Given the description of an element on the screen output the (x, y) to click on. 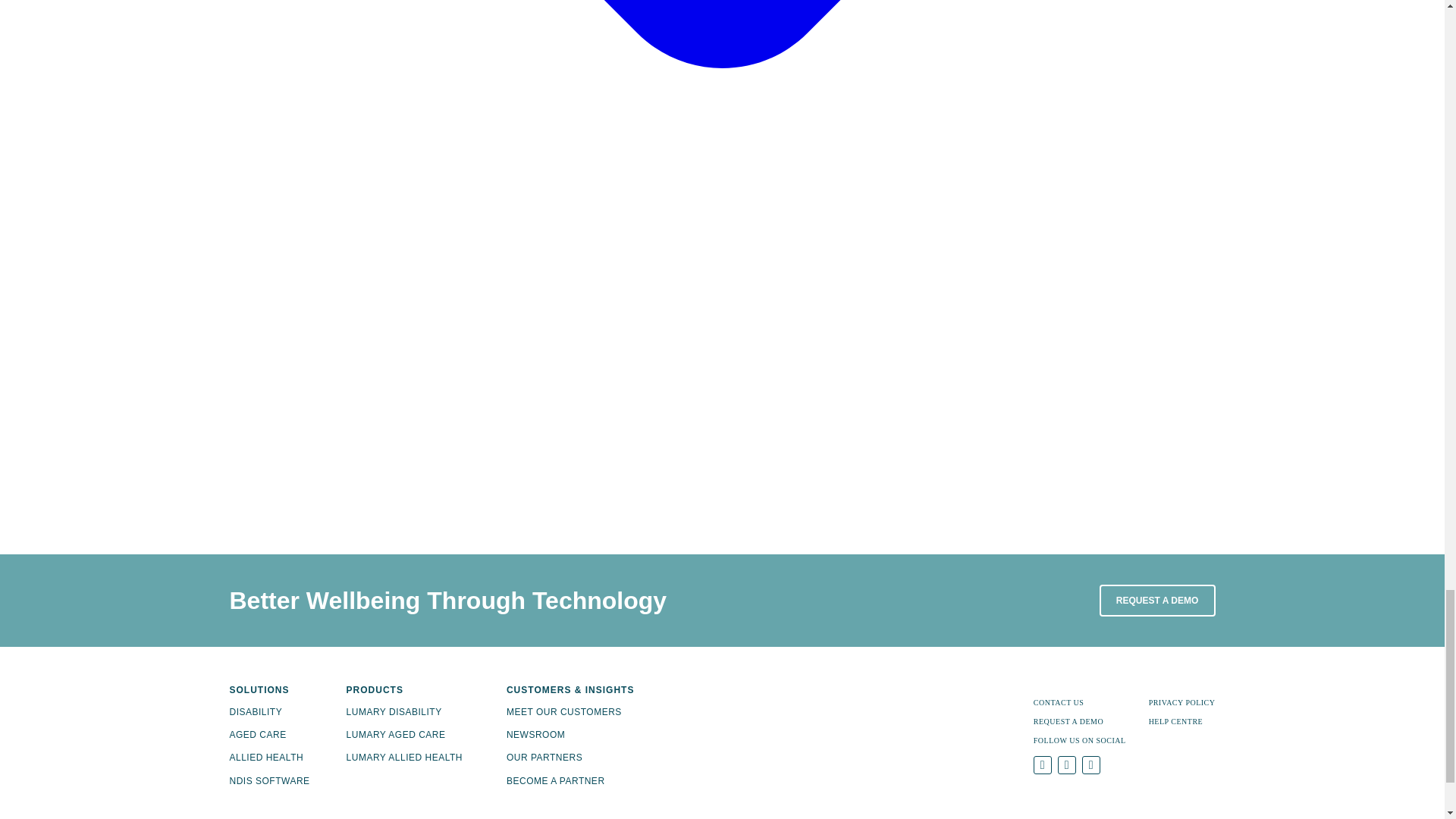
SOLUTIONS (268, 690)
LUMARY DISABILITY (394, 711)
AGED CARE (256, 734)
PRODUCTS (404, 690)
DISABILITY (255, 711)
NDIS SOFTWARE (268, 780)
REQUEST A DEMO (1157, 600)
LUMARY AGED CARE (395, 734)
ALLIED HEALTH (265, 757)
